Given the description of an element on the screen output the (x, y) to click on. 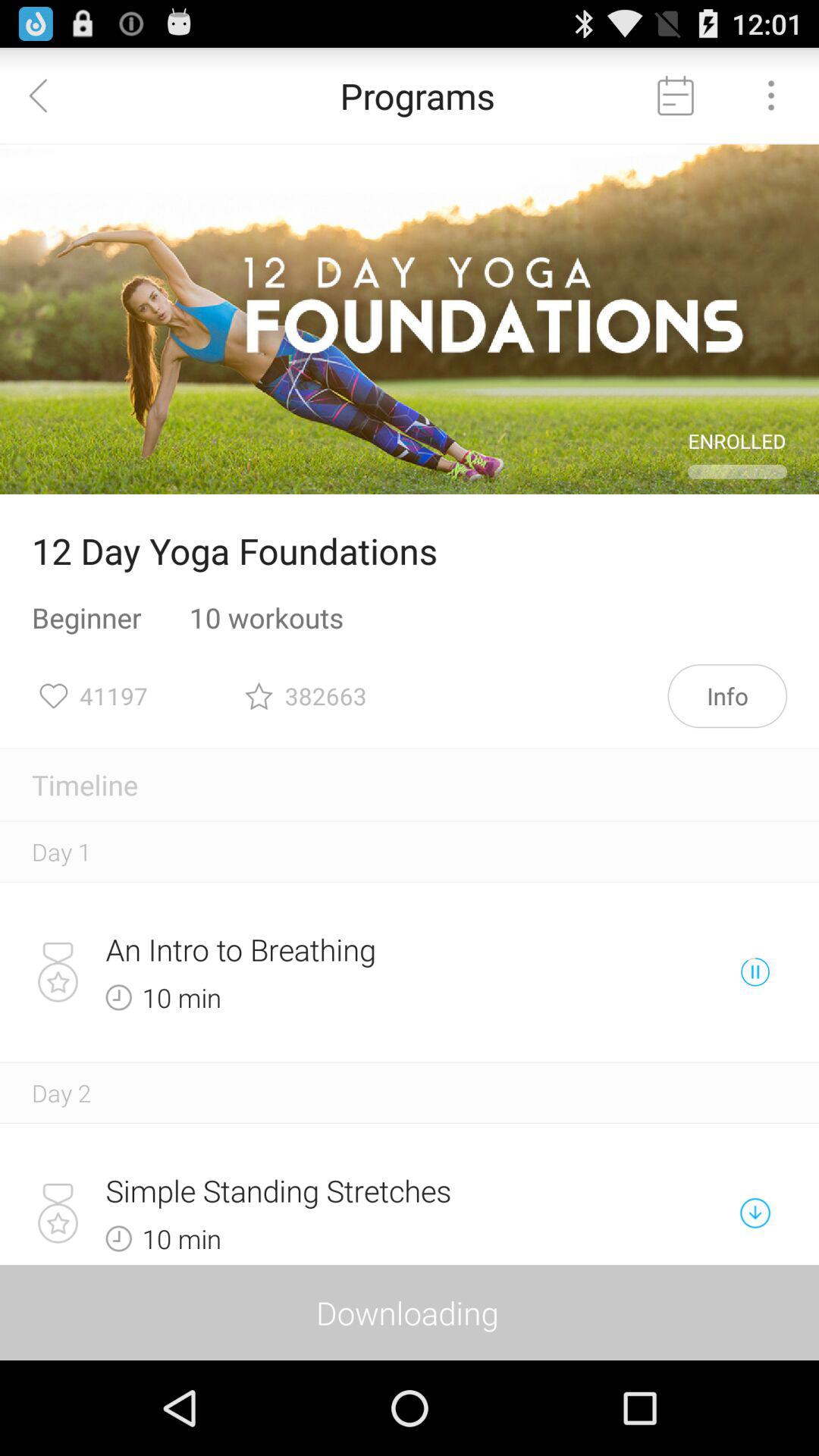
press item next to the 382663 item (727, 696)
